Given the description of an element on the screen output the (x, y) to click on. 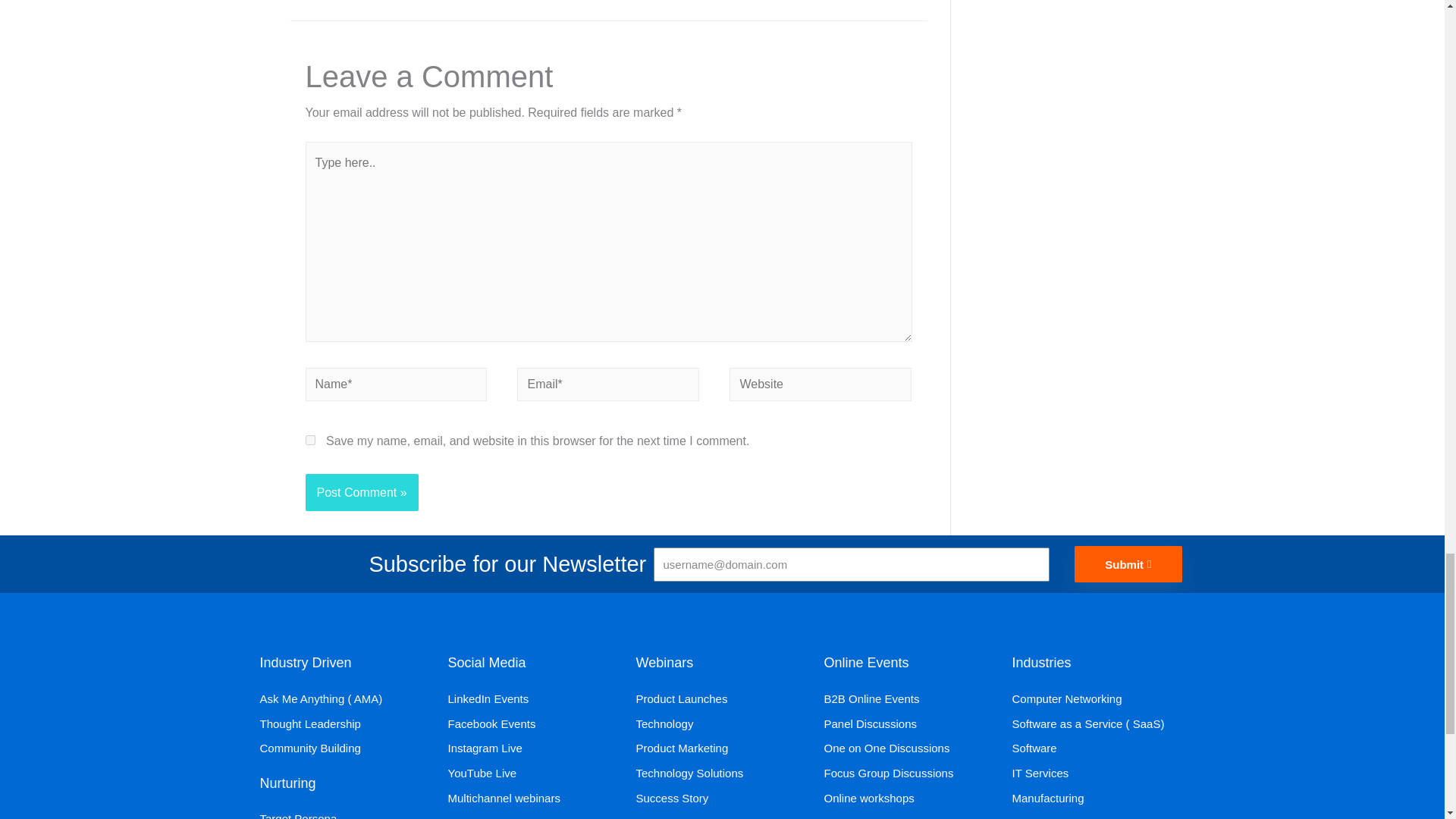
yes (309, 439)
